Given the description of an element on the screen output the (x, y) to click on. 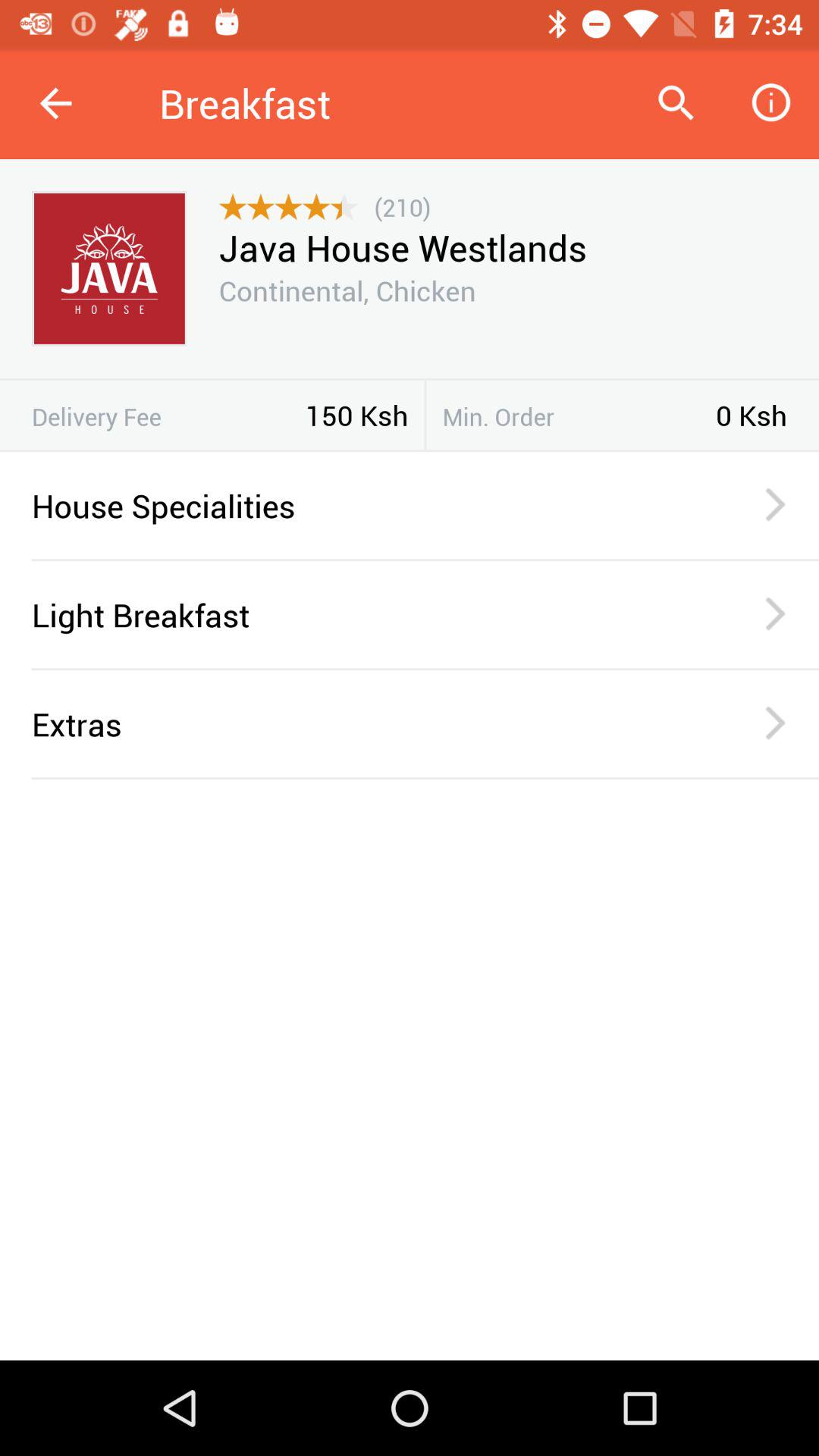
tap item above extras icon (425, 669)
